Given the description of an element on the screen output the (x, y) to click on. 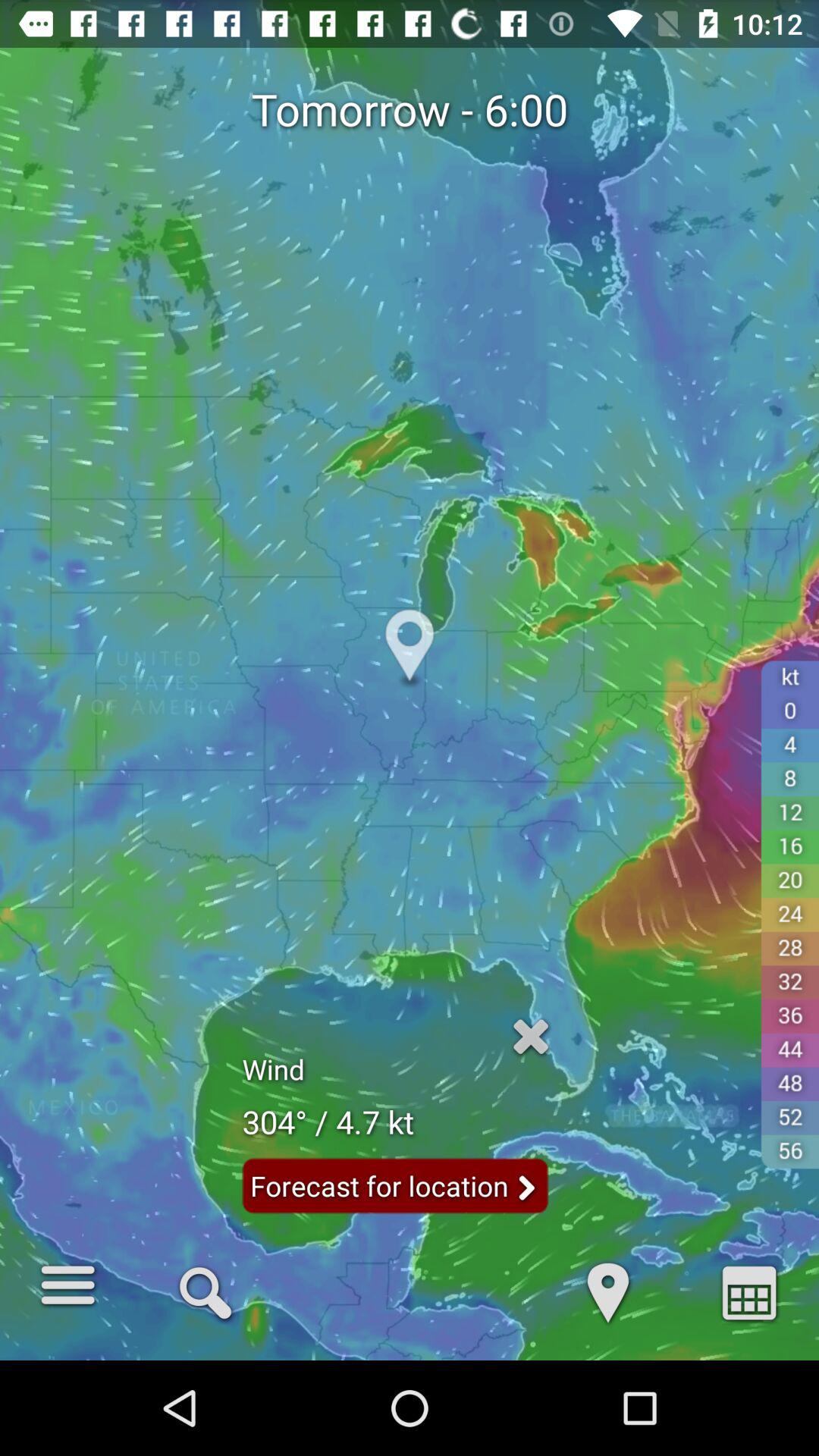
jump until a item (749, 1291)
